Given the description of an element on the screen output the (x, y) to click on. 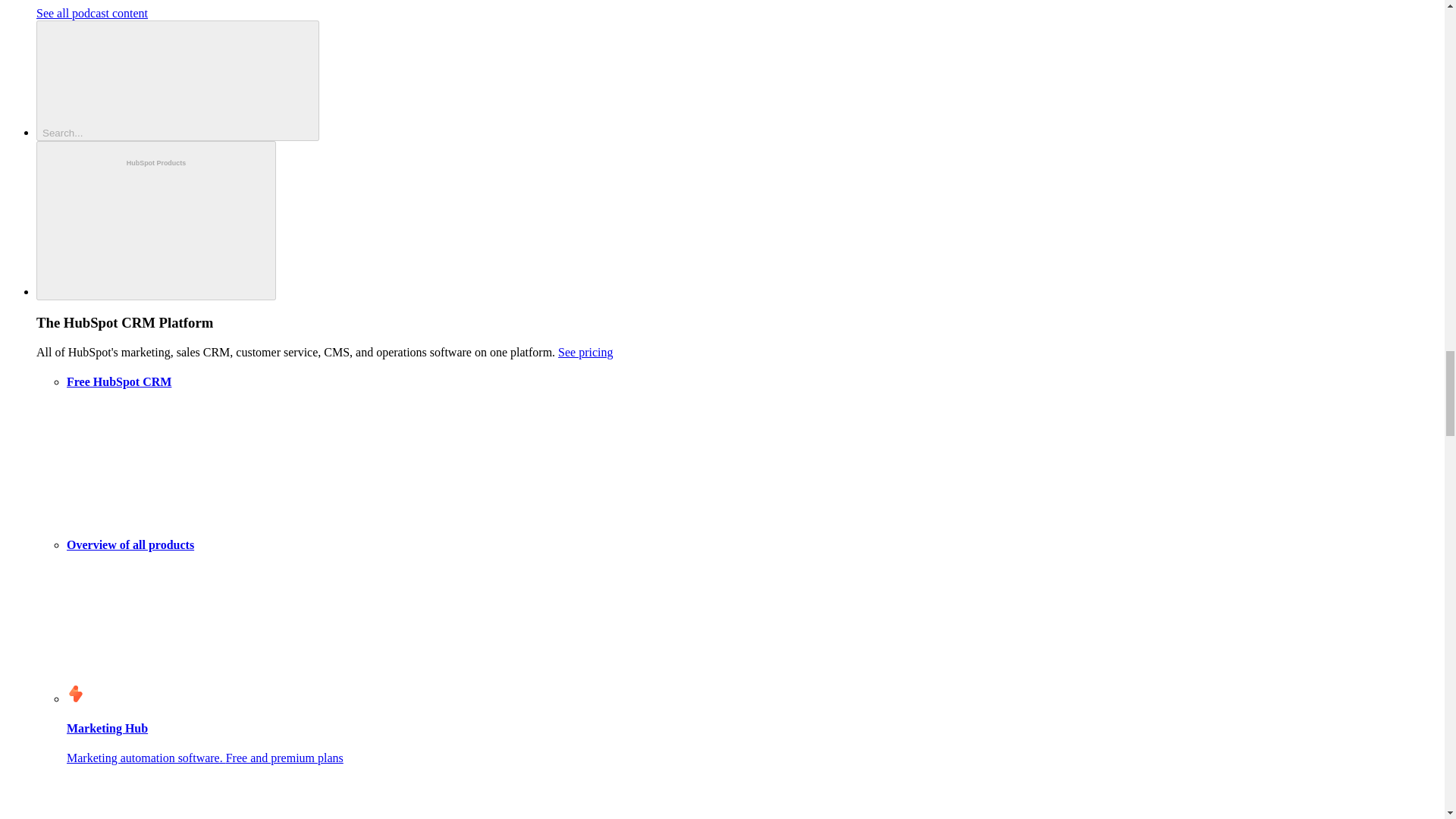
See pricing (584, 351)
HubSpot Products (156, 220)
See all podcast content (92, 12)
Search... (177, 80)
